Given the description of an element on the screen output the (x, y) to click on. 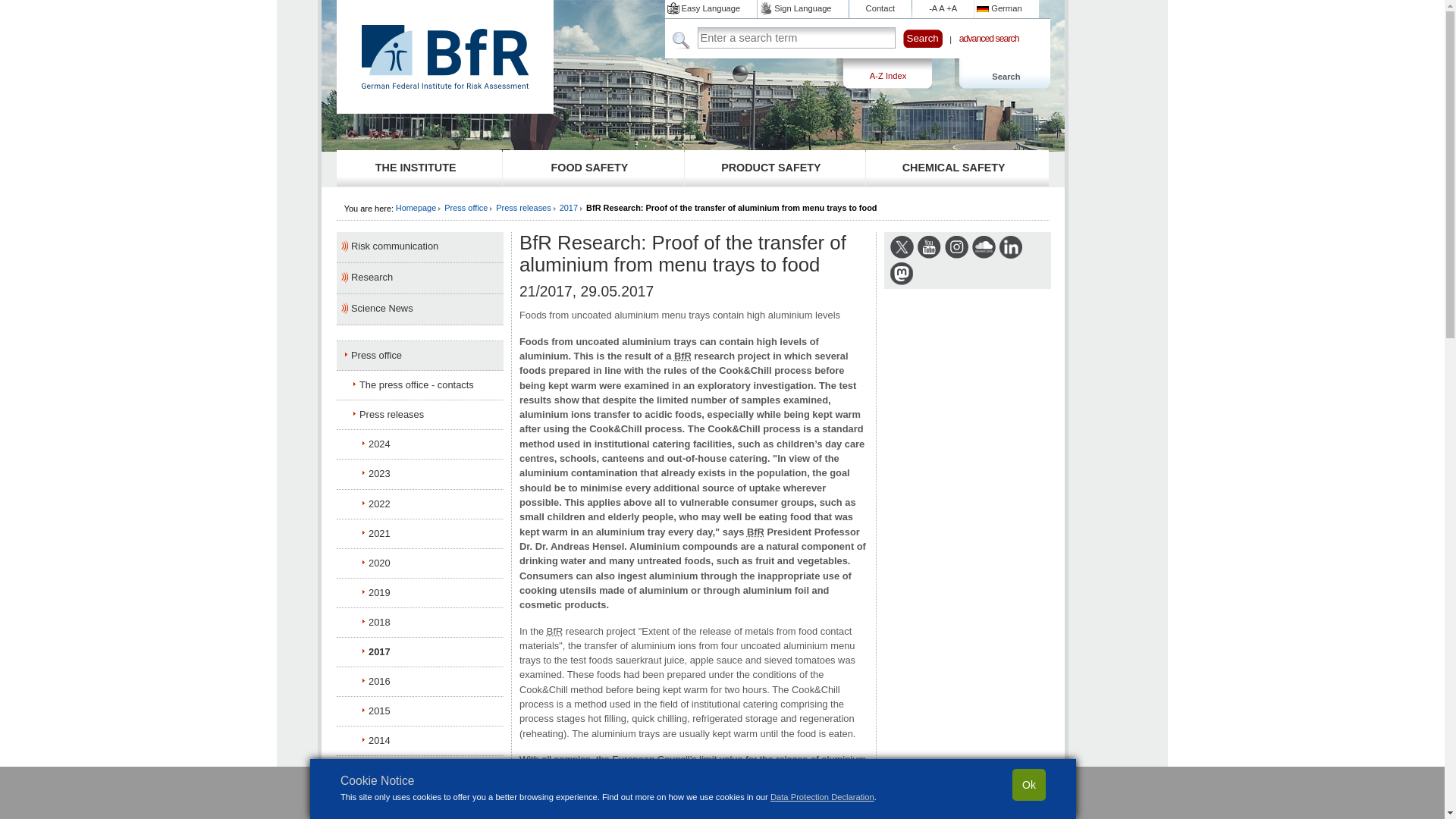
Search (922, 38)
advanced search (989, 38)
To Homepage (444, 85)
-A (932, 8)
Express search (682, 38)
Search (922, 38)
German (1006, 8)
decrease font size (932, 8)
Ok (1028, 784)
increase font size (951, 8)
Contact (880, 8)
Search (1002, 74)
Easy Language (711, 8)
Sign Language (802, 8)
advanced search (989, 38)
